Given the description of an element on the screen output the (x, y) to click on. 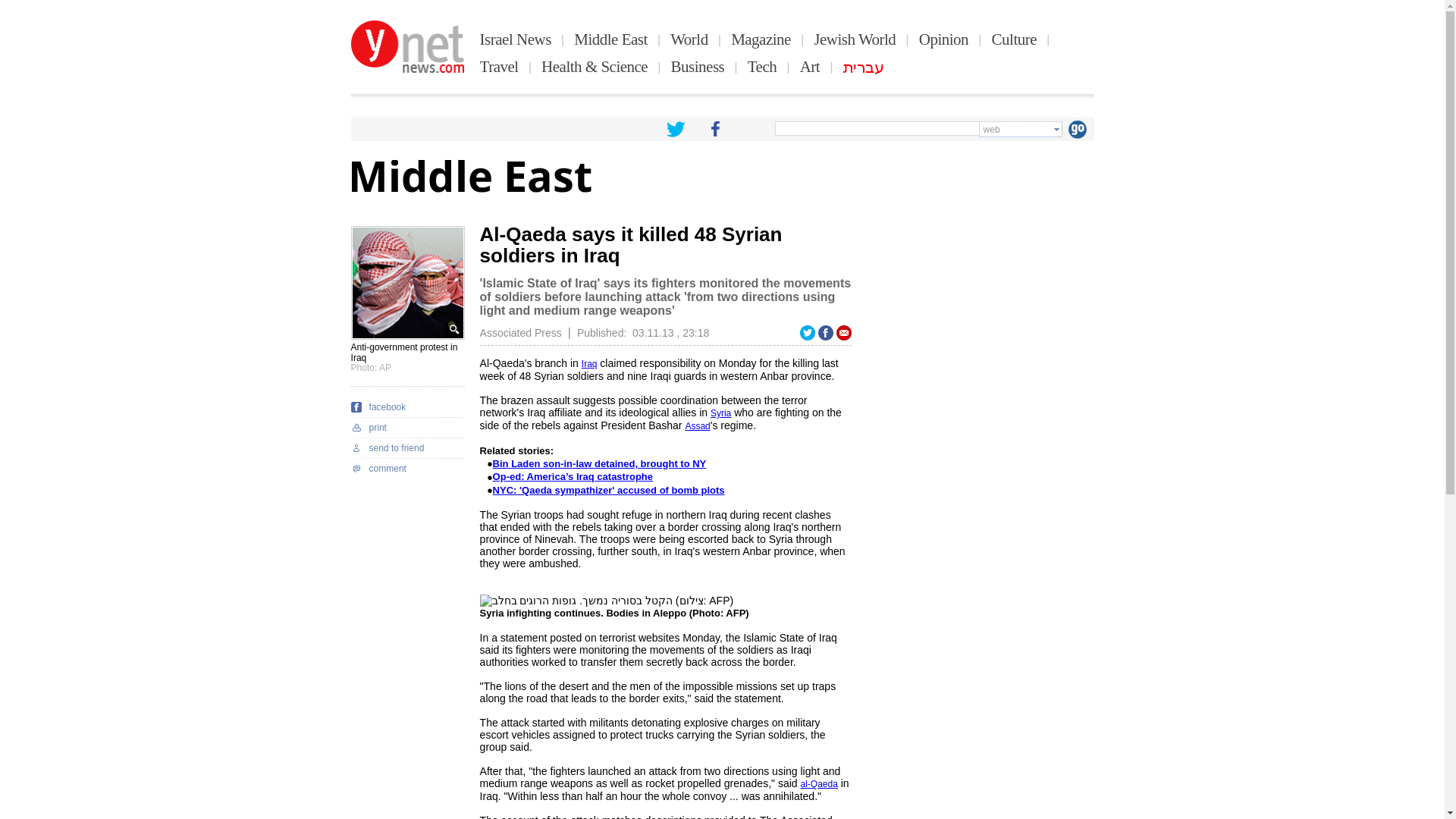
3rd party ad content (980, 320)
Ynetnews - news and updates 24 hours (407, 46)
Culture (1013, 39)
Art (810, 66)
World (688, 39)
Travel (499, 66)
3rd party ad content (980, 695)
Opinion (943, 39)
Jewish World (854, 39)
Israel News (515, 39)
Business (698, 66)
Magazine (760, 39)
Middle East (610, 39)
Tech (762, 66)
Ynetnews on Twitter (675, 129)
